Given the description of an element on the screen output the (x, y) to click on. 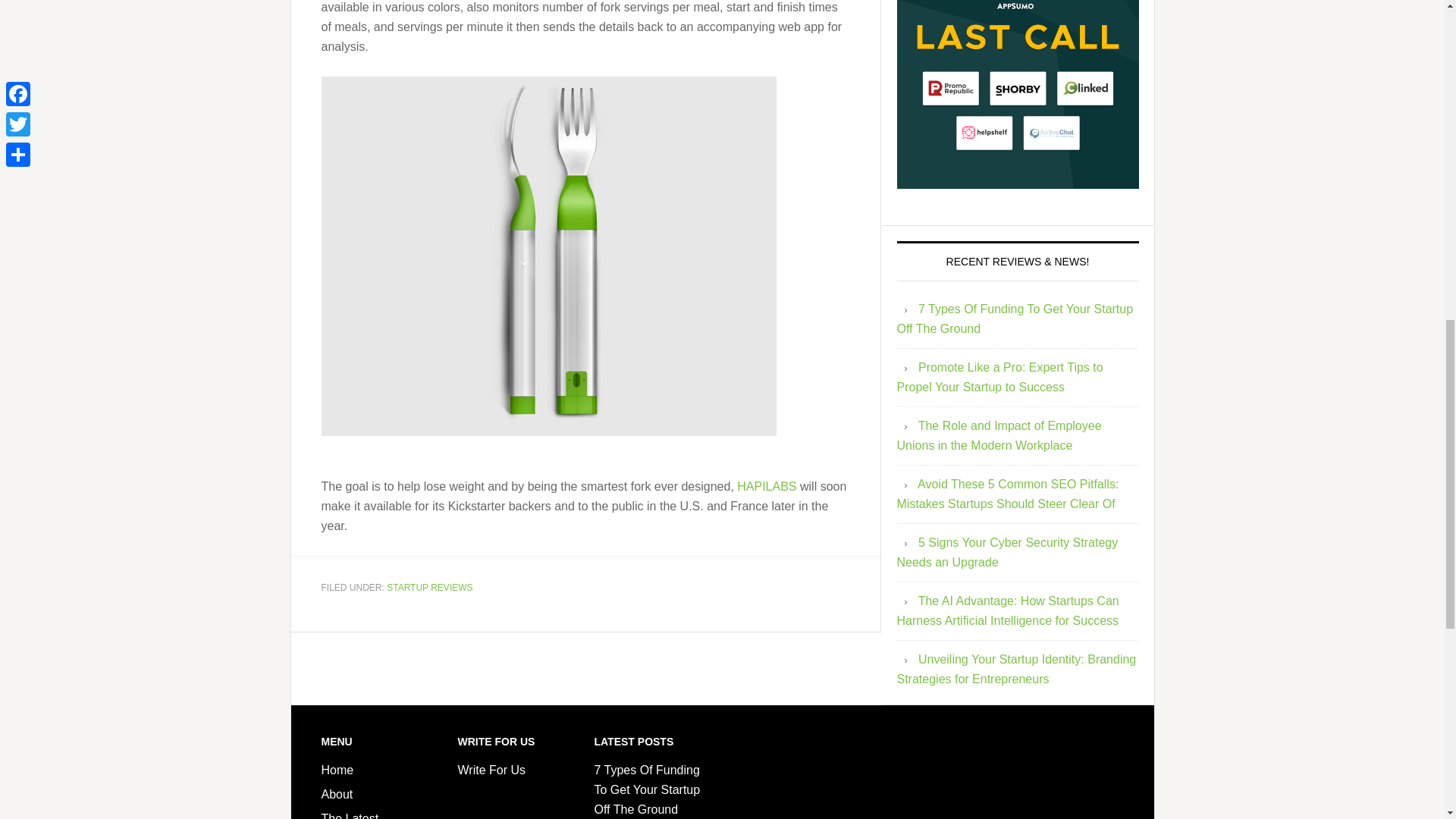
7 Types Of Funding To Get Your Startup Off The Ground (1014, 318)
7 Types Of Funding To Get Your Startup Off The Ground (647, 789)
Write For Us (491, 769)
The Latest (349, 815)
STARTUP REVIEWS (429, 587)
5 Signs Your Cyber Security Strategy Needs an Upgrade (1007, 552)
About (337, 793)
HAPILABS (766, 485)
Home (337, 769)
